Given the description of an element on the screen output the (x, y) to click on. 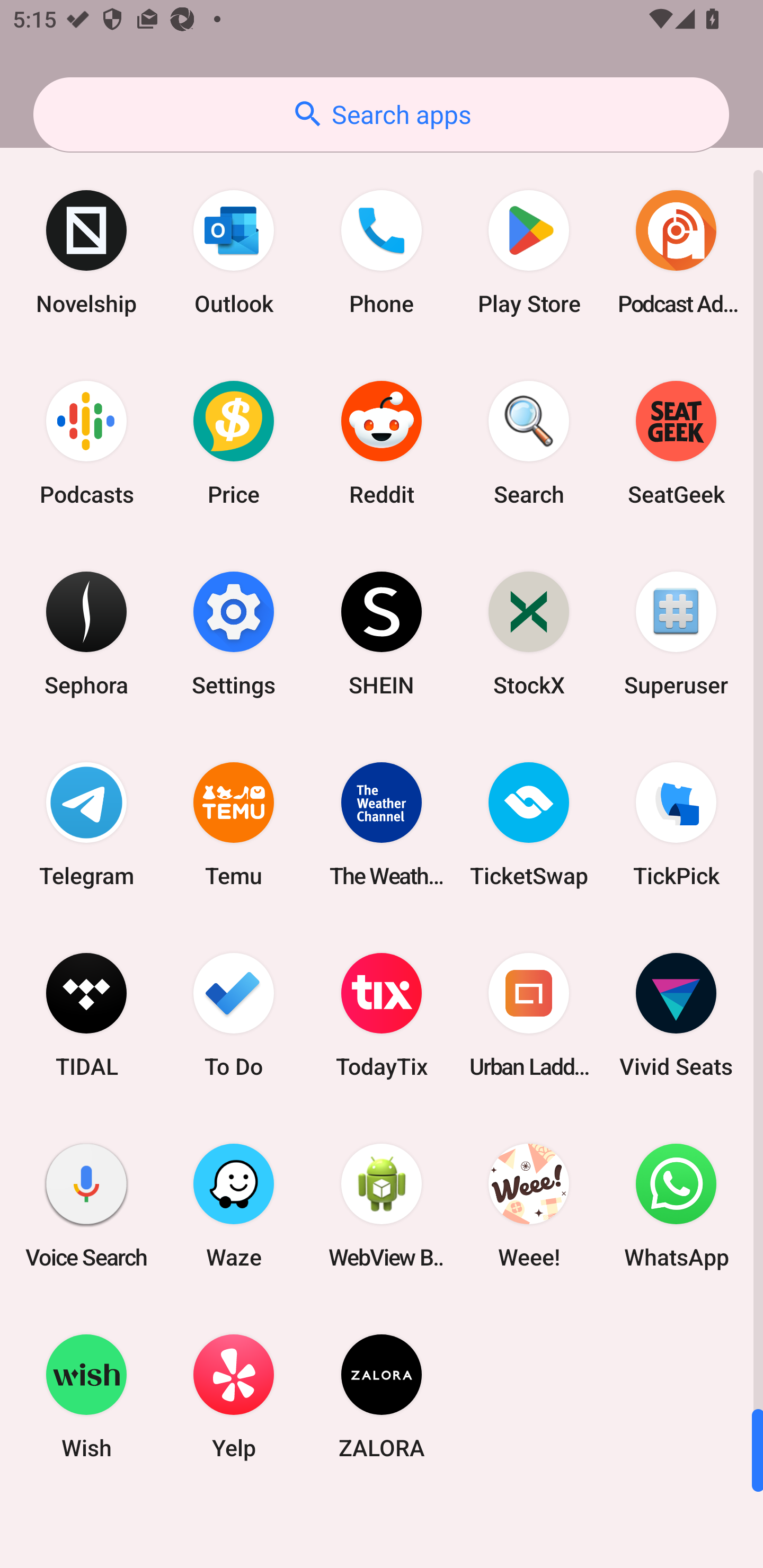
Yelp (233, 1396)
